Given the description of an element on the screen output the (x, y) to click on. 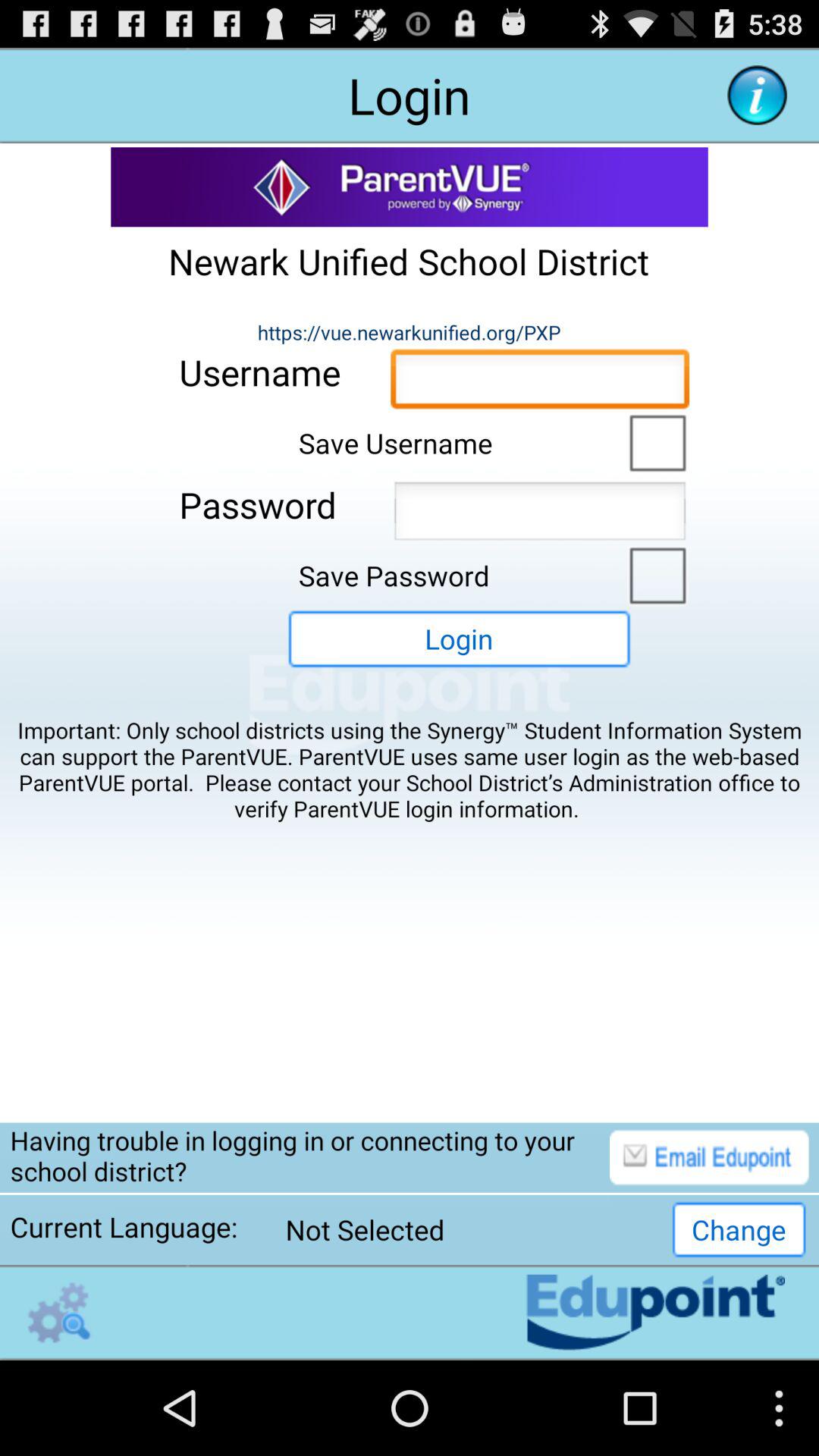
save username checkbox (654, 441)
